Given the description of an element on the screen output the (x, y) to click on. 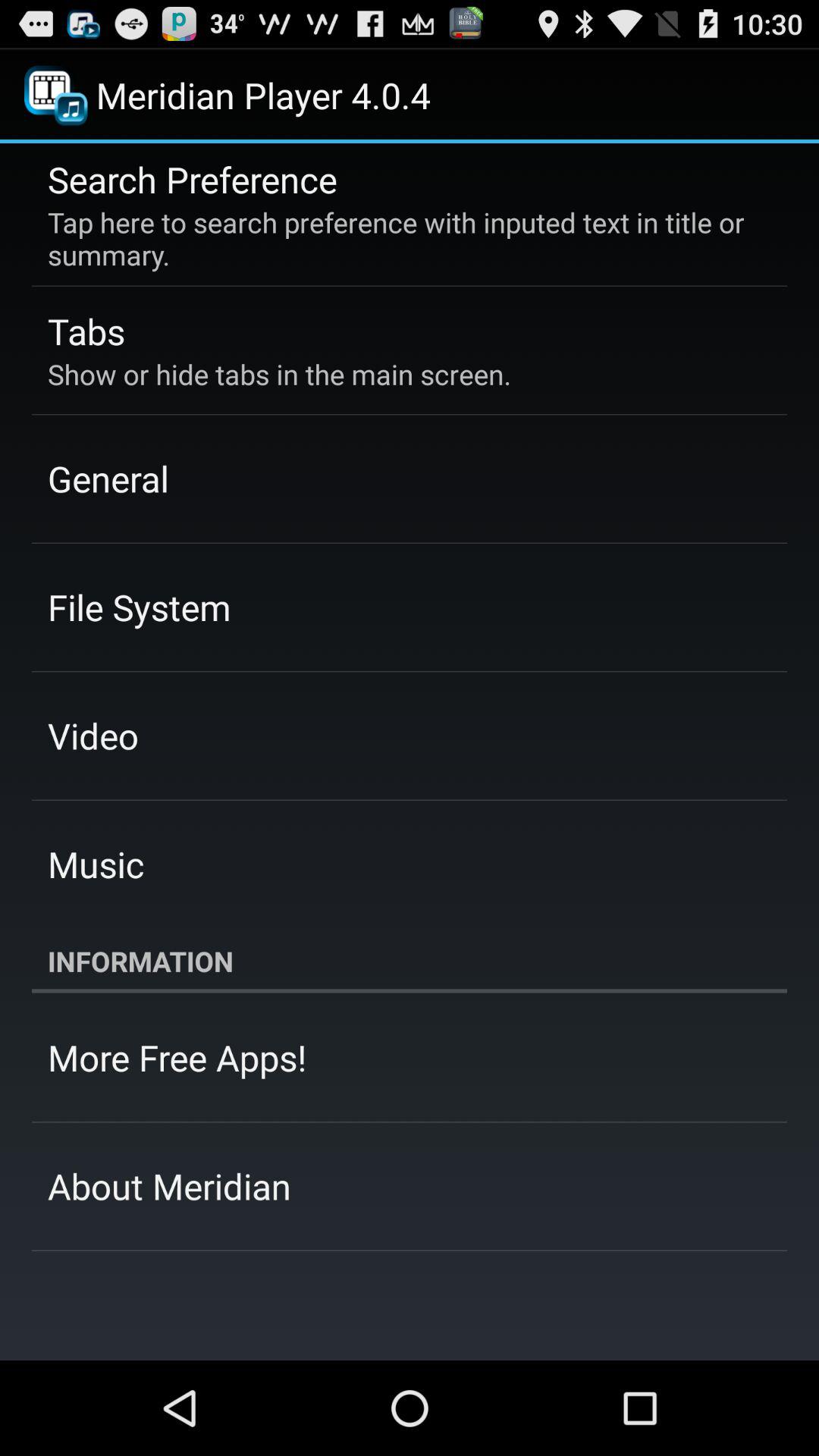
launch the icon above video item (138, 606)
